Given the description of an element on the screen output the (x, y) to click on. 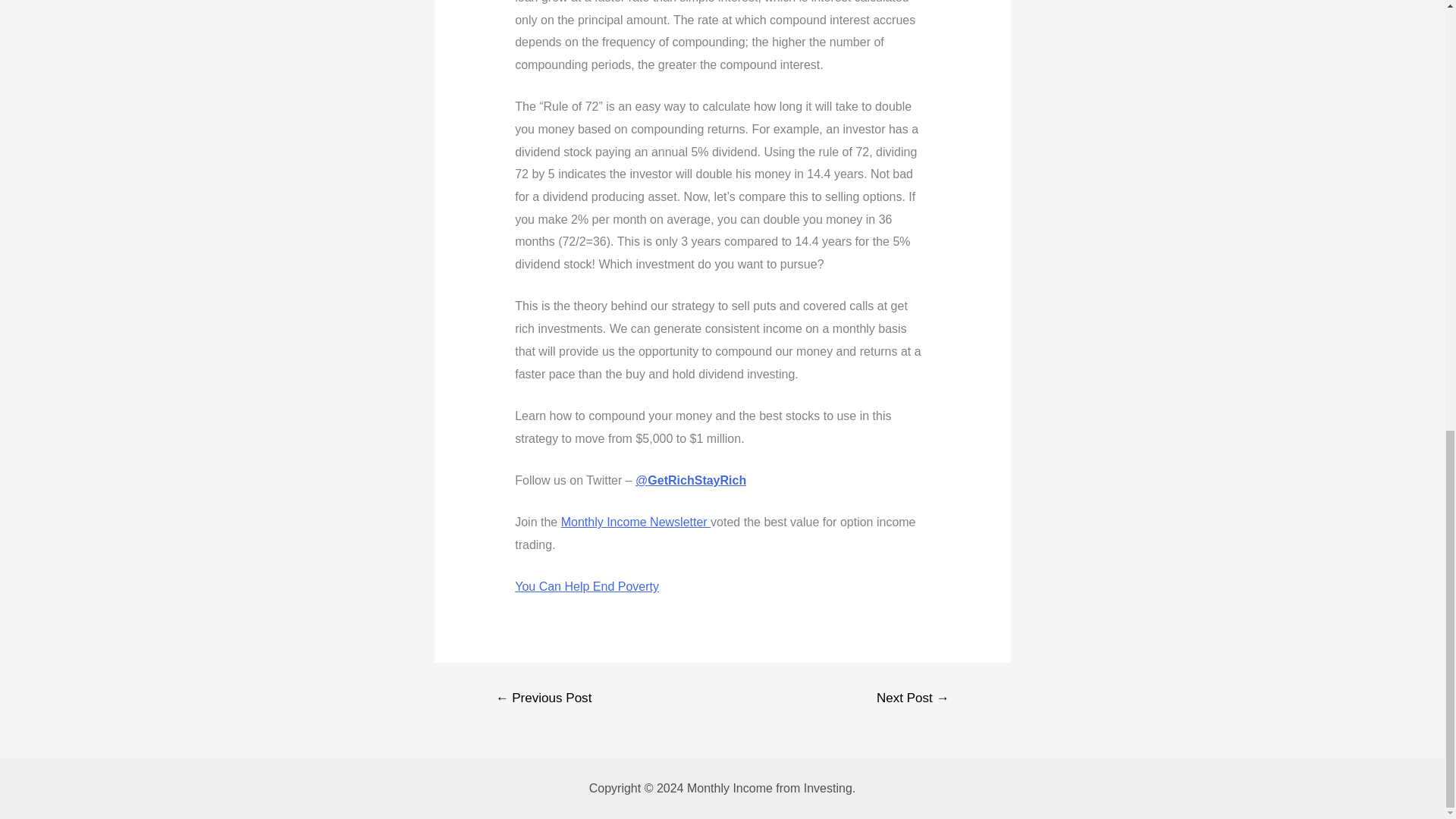
Monthly Income Newsletter (635, 521)
You Can Help End Poverty (587, 585)
